Given the description of an element on the screen output the (x, y) to click on. 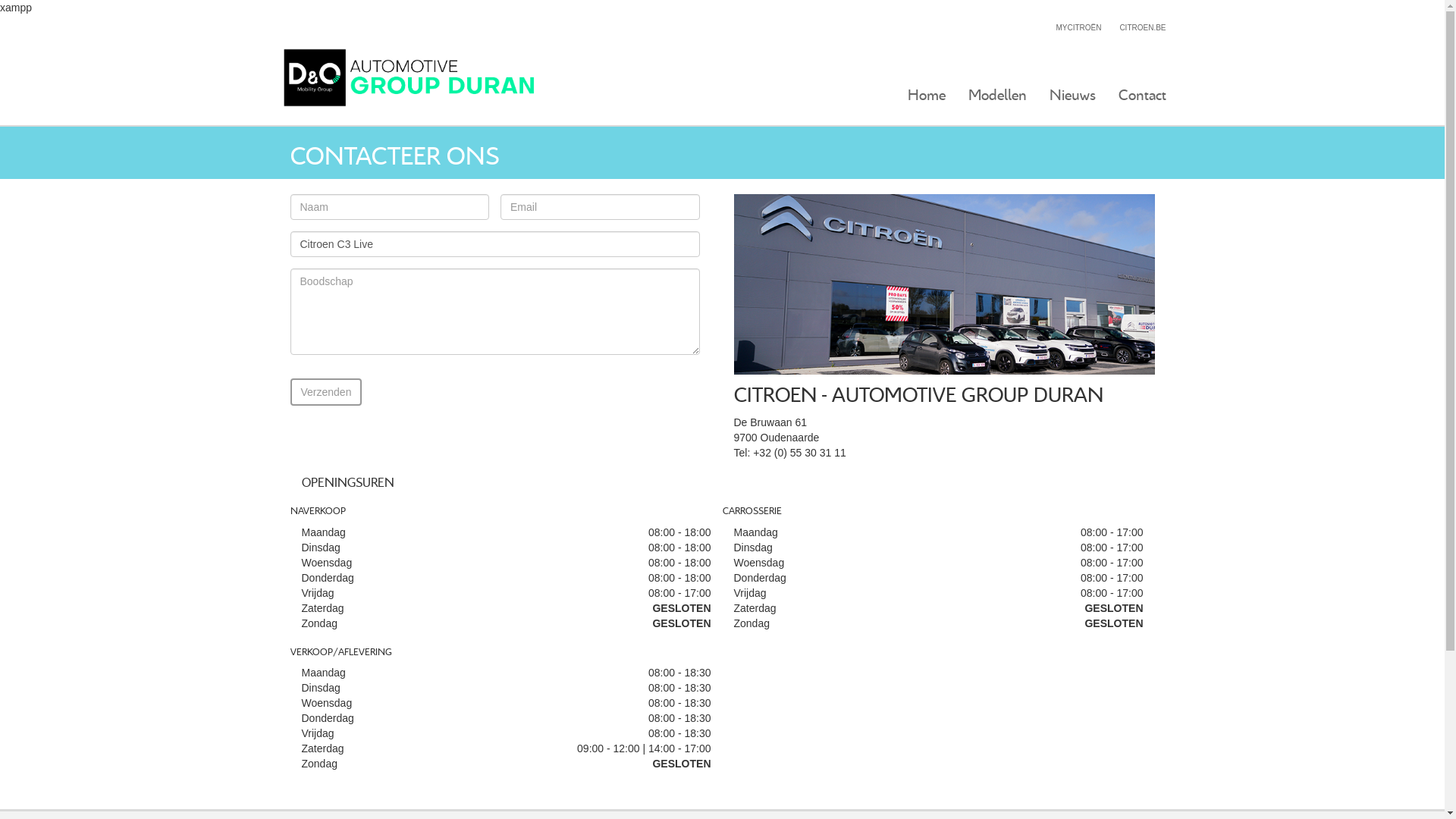
Verzenden Element type: text (325, 391)
CITROEN.BE Element type: text (1142, 27)
Contact Element type: text (1142, 94)
Modellen Element type: text (997, 94)
Nieuws Element type: text (1071, 94)
Home Element type: text (926, 94)
